Given the description of an element on the screen output the (x, y) to click on. 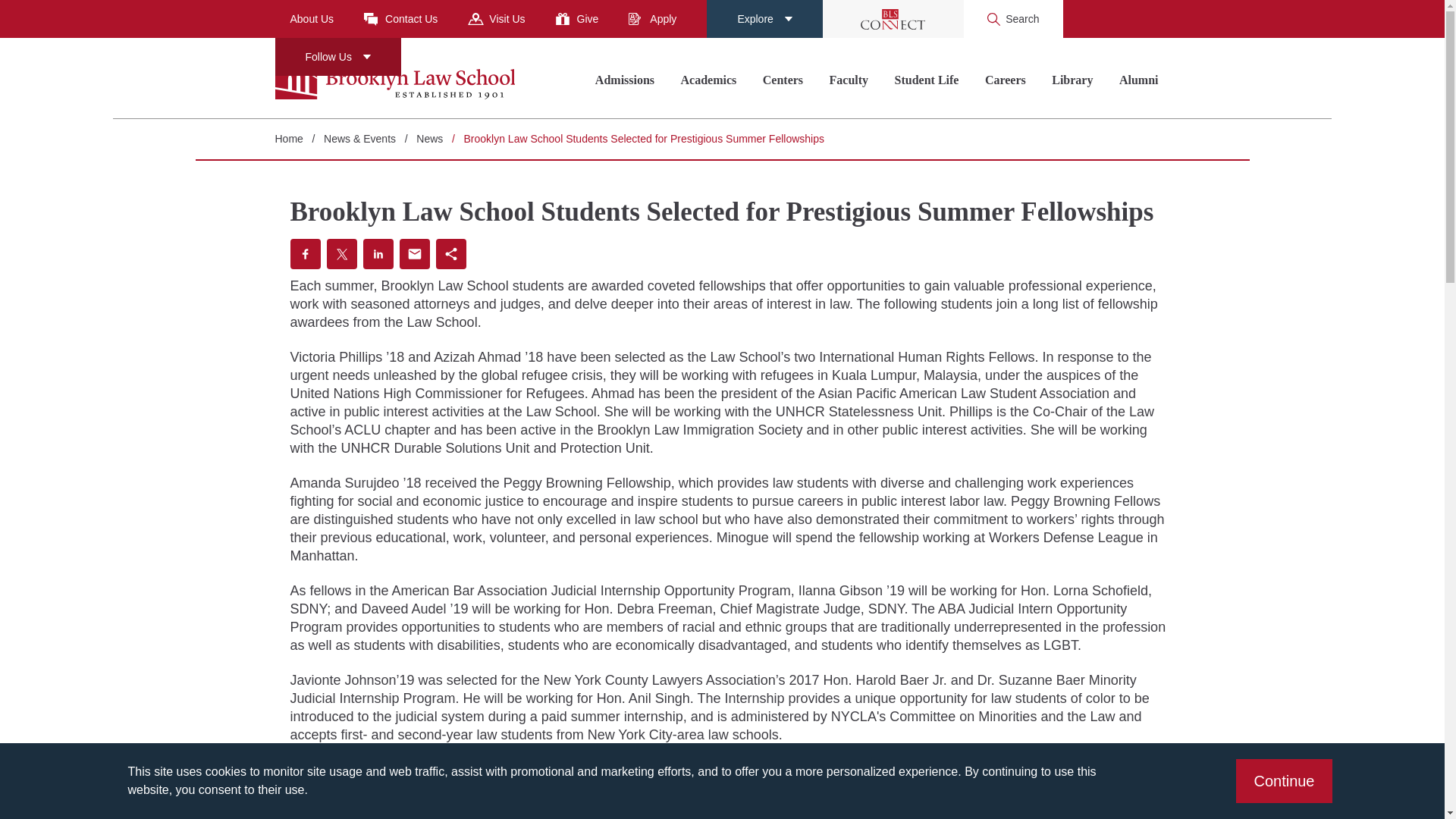
Academics (708, 79)
Admissions (624, 79)
